Given the description of an element on the screen output the (x, y) to click on. 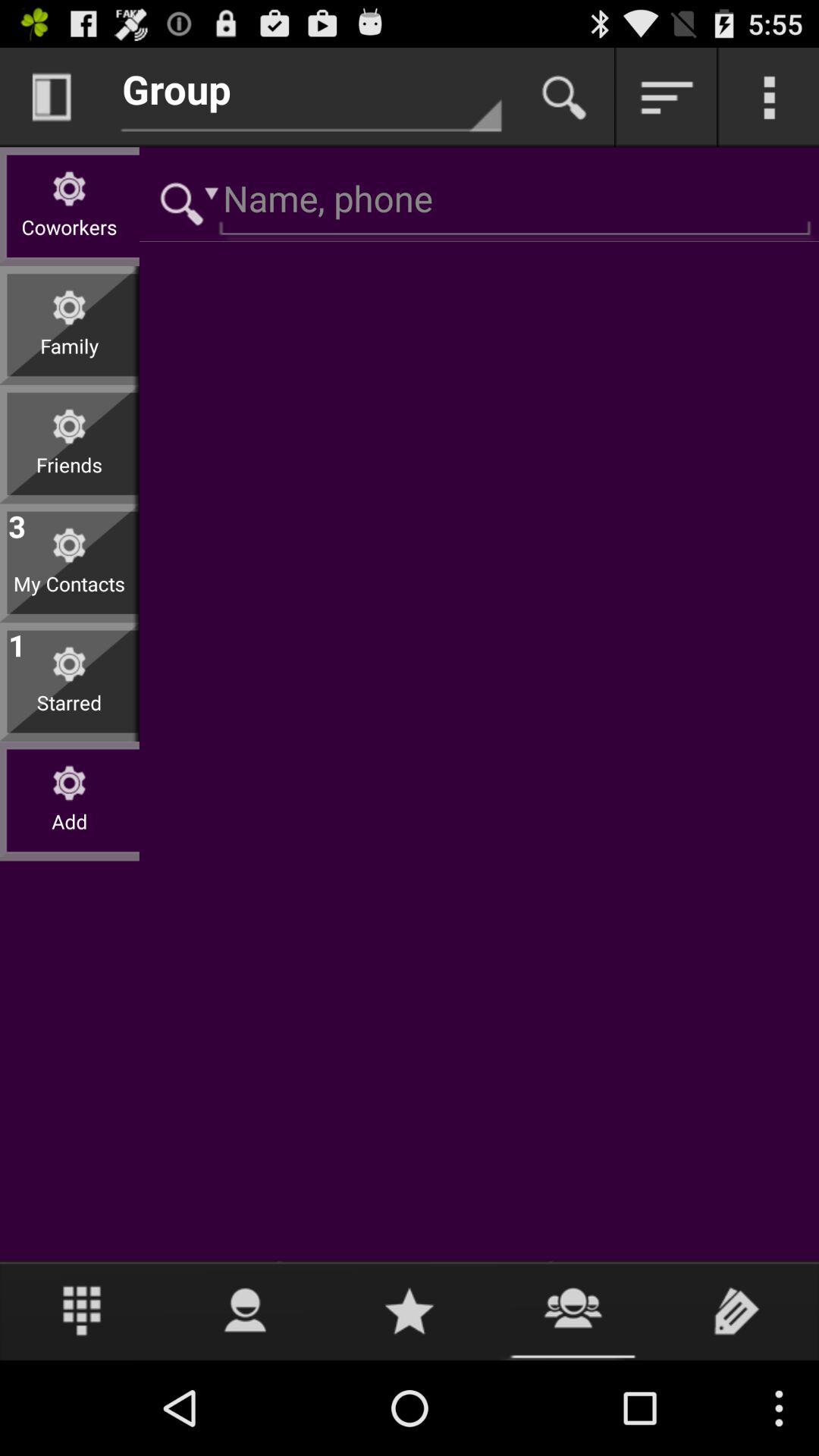
swipe to starred (69, 714)
